Given the description of an element on the screen output the (x, y) to click on. 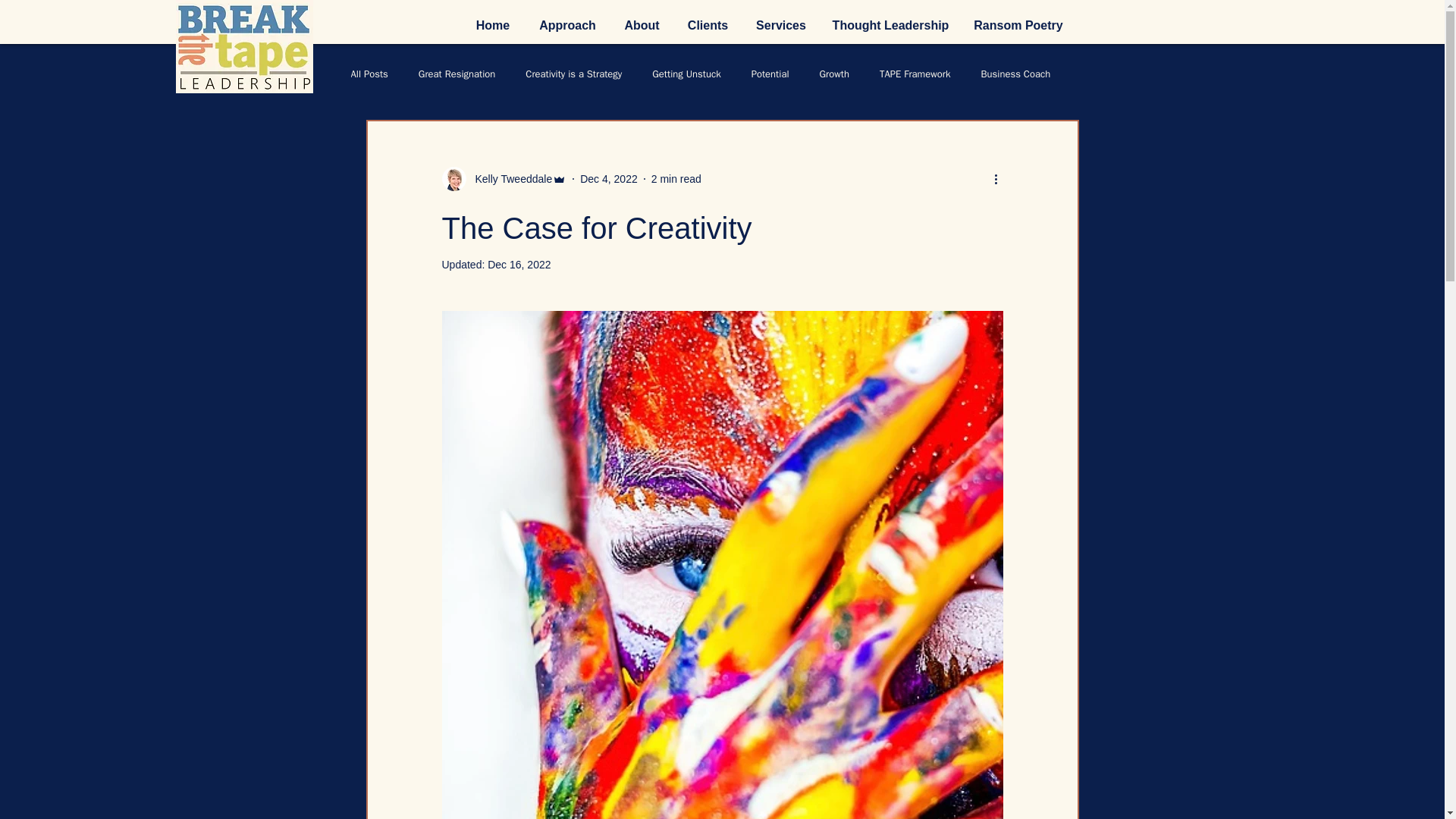
2 min read (675, 178)
About (641, 25)
Home (493, 25)
Potential (770, 74)
Approach (567, 25)
Services (780, 25)
Dec 16, 2022 (518, 264)
Dec 4, 2022 (608, 178)
leadership logo.png (244, 46)
Kelly Tweeddale (503, 178)
Ransom Poetry (1017, 25)
Great Resignation (457, 74)
All Posts (368, 74)
Thought Leadership (890, 25)
Getting Unstuck (686, 74)
